Given the description of an element on the screen output the (x, y) to click on. 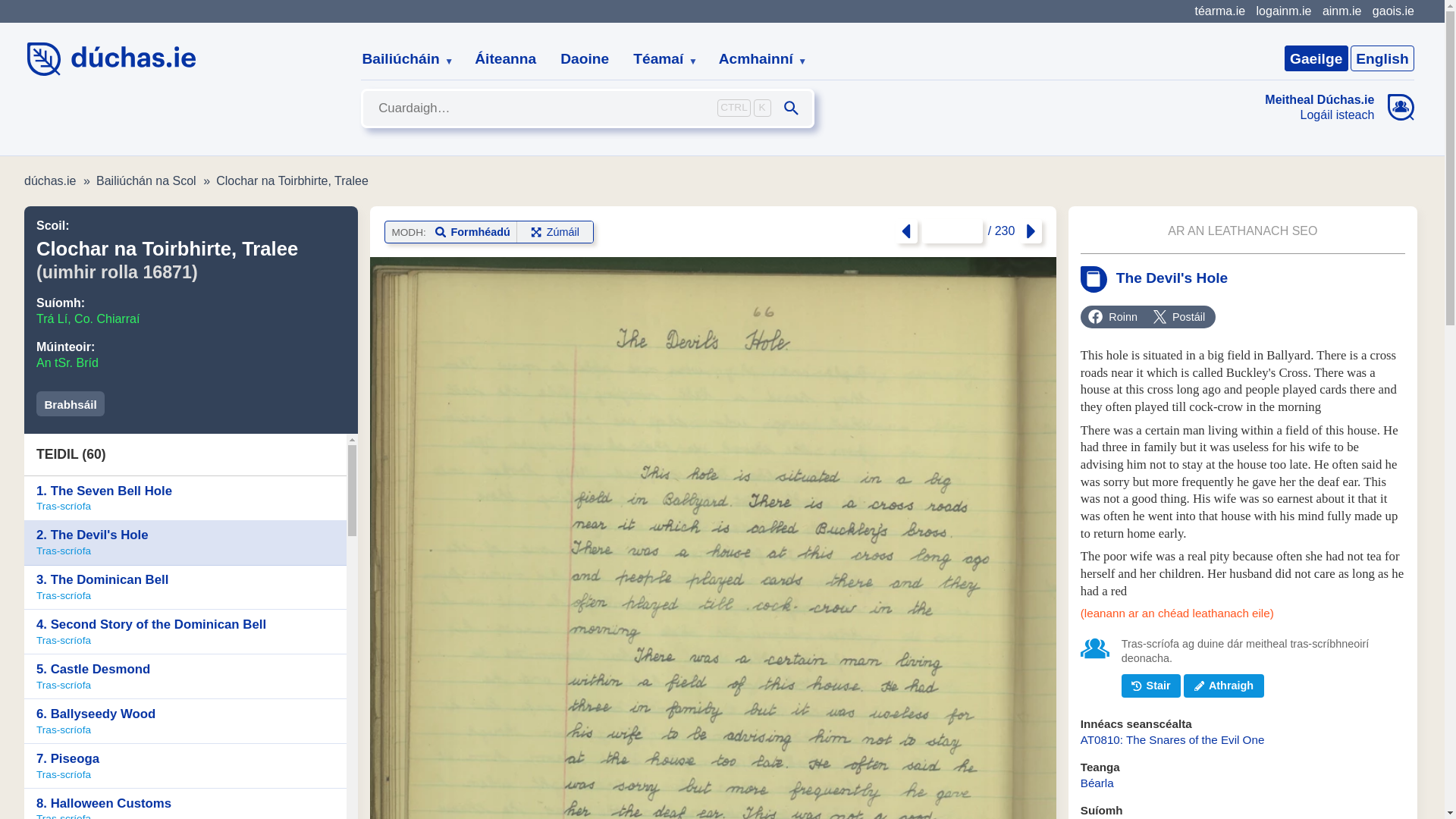
logainm.ie (1283, 11)
gaois.ie (1393, 11)
Clochar na Toirbhirte, Tralee (291, 180)
ainm.ie (1341, 11)
English (1382, 58)
Gaeilge (1316, 58)
Daoine (584, 58)
